Given the description of an element on the screen output the (x, y) to click on. 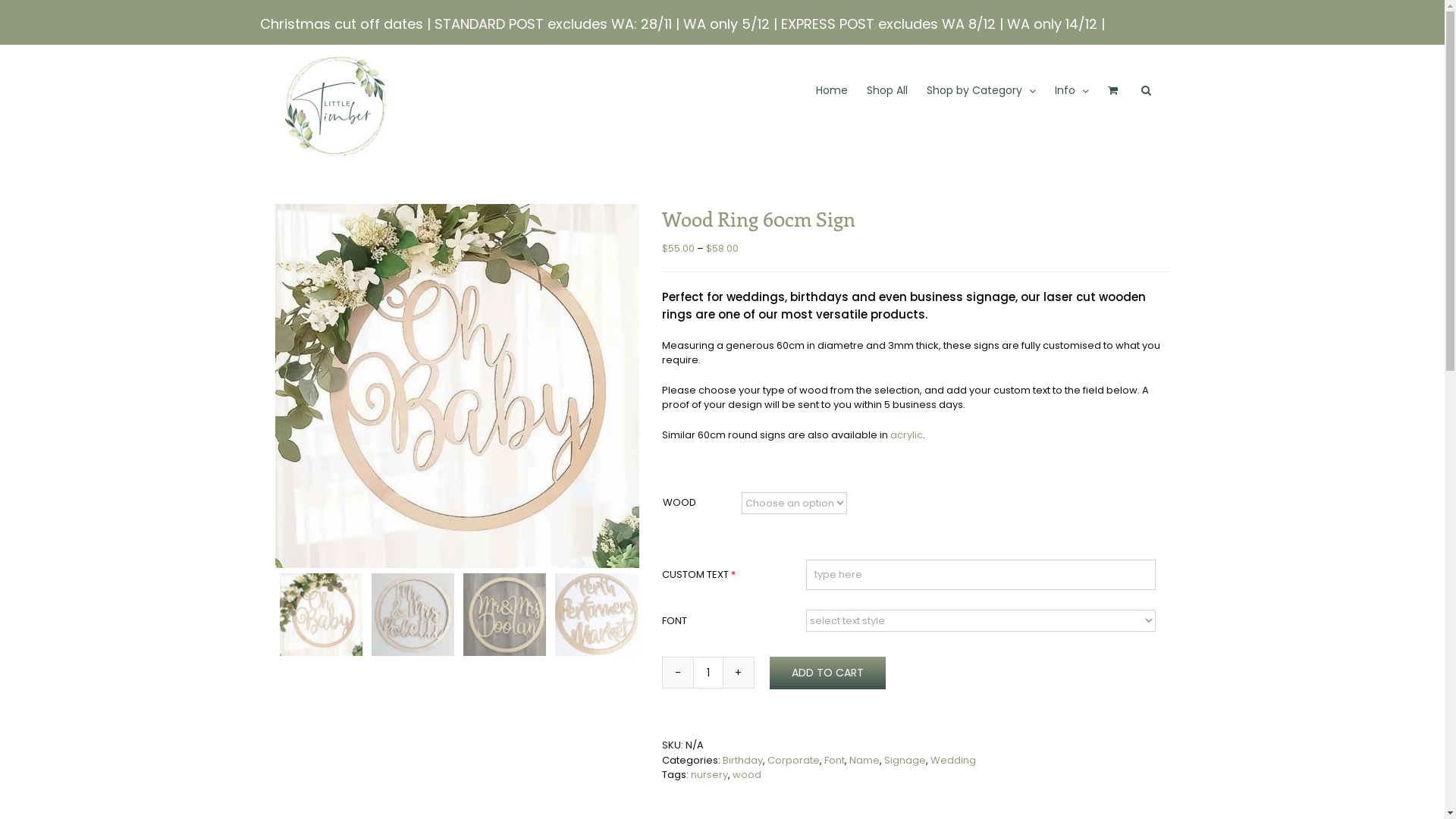
Font Element type: text (833, 759)
Search Element type: hover (1145, 89)
Info Element type: text (1071, 89)
wooden ring sign-2 Element type: hover (456, 385)
Corporate Element type: text (793, 759)
wood Element type: text (746, 774)
Wedding Element type: text (952, 759)
Home Element type: text (831, 89)
Dismiss Element type: text (1146, 21)
Shop by Category Element type: text (980, 89)
Signage Element type: text (904, 759)
nursery Element type: text (708, 774)
Shop All Element type: text (886, 89)
Birthday Element type: text (741, 759)
ADD TO CART Element type: text (826, 672)
Name Element type: text (864, 759)
acrylic Element type: text (906, 434)
